Given the description of an element on the screen output the (x, y) to click on. 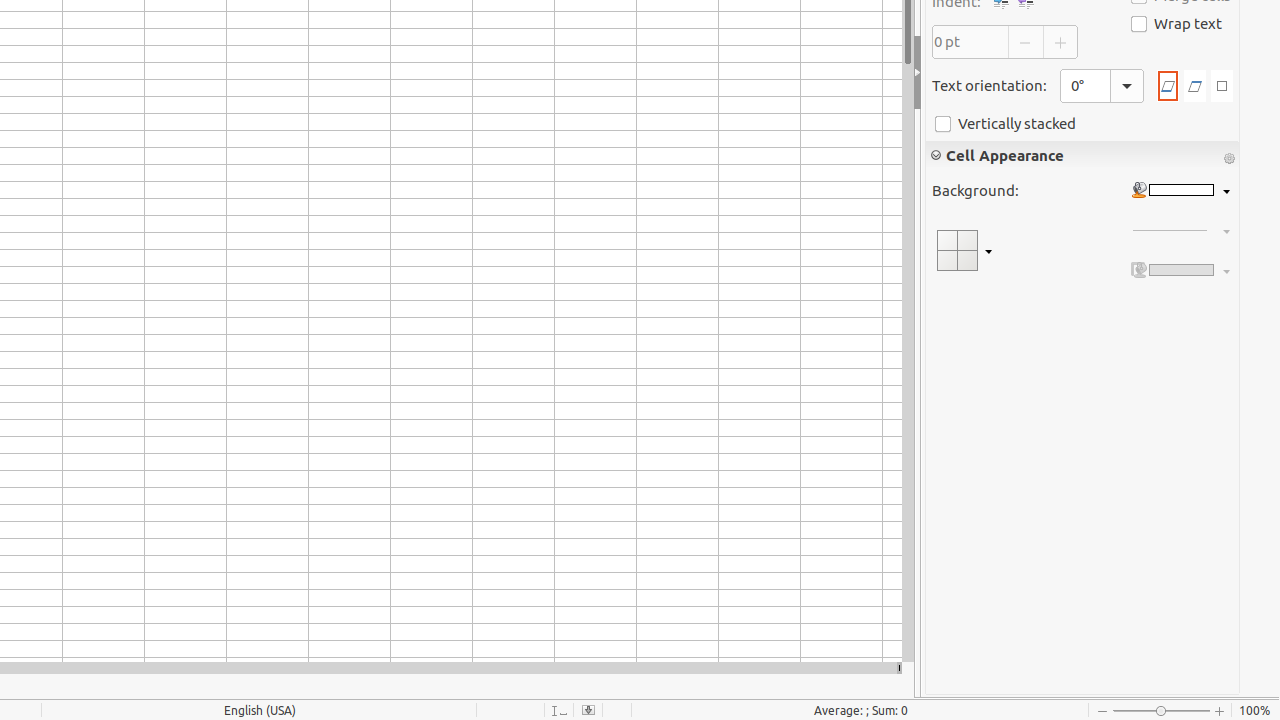
Wrap text Element type: check-box (1176, 23)
Text Orientation Element type: combo-box (1102, 86)
Vertically stacked Element type: check-box (1083, 124)
More Options Element type: push-button (1229, 159)
